Given the description of an element on the screen output the (x, y) to click on. 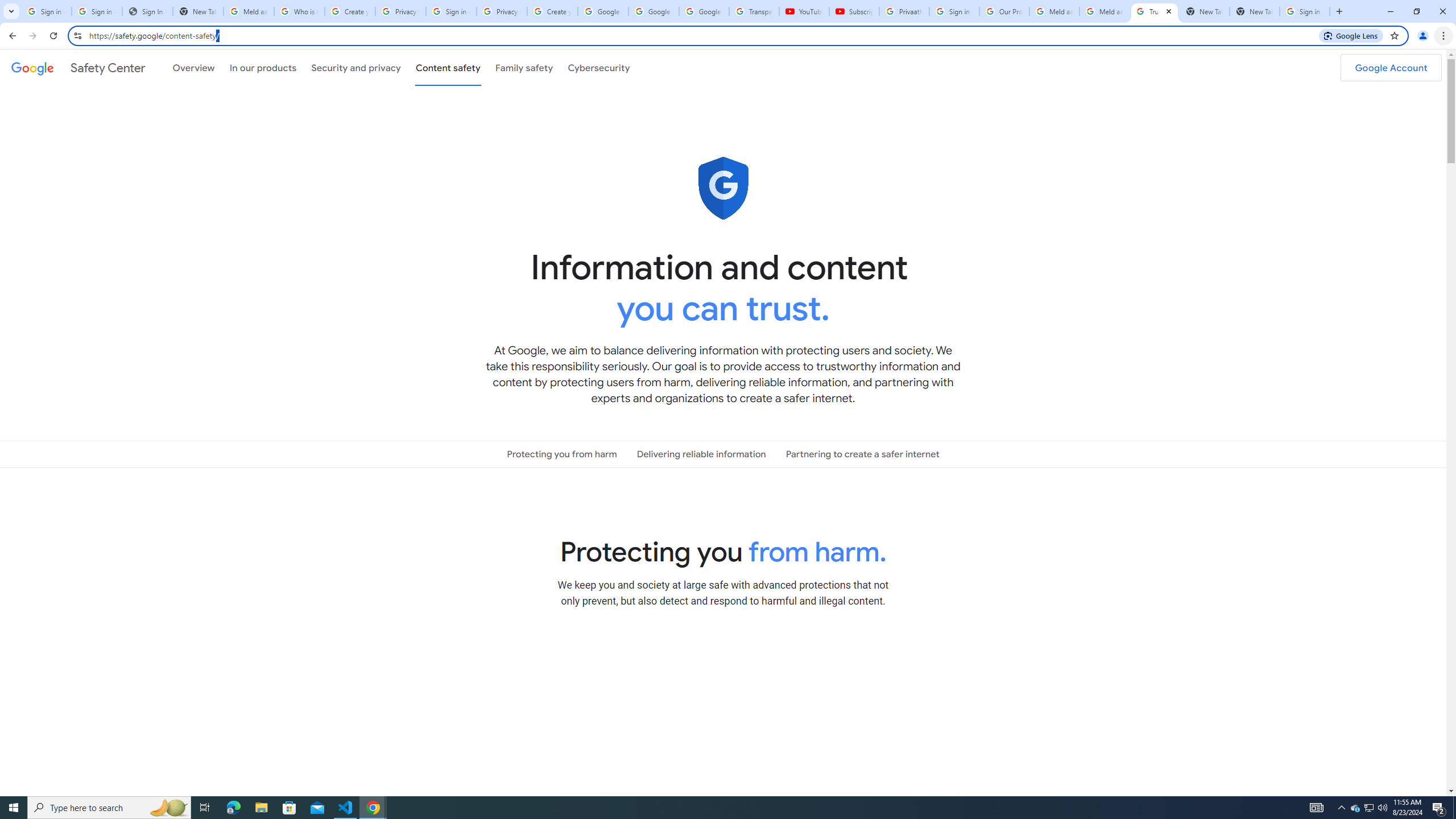
Restore (1416, 11)
Address and search bar (701, 35)
Sign in - Google Accounts (1304, 11)
Sign In - USA TODAY (146, 11)
New Tab (1254, 11)
Create your Google Account (350, 11)
YouTube (804, 11)
Trusted Information and Content - Google Safety Center (1154, 11)
Who is my administrator? - Google Account Help (299, 11)
Subscriptions - YouTube (853, 11)
New Tab (1338, 11)
Protecting you from harm (561, 454)
Prevent (723, 698)
